Given the description of an element on the screen output the (x, y) to click on. 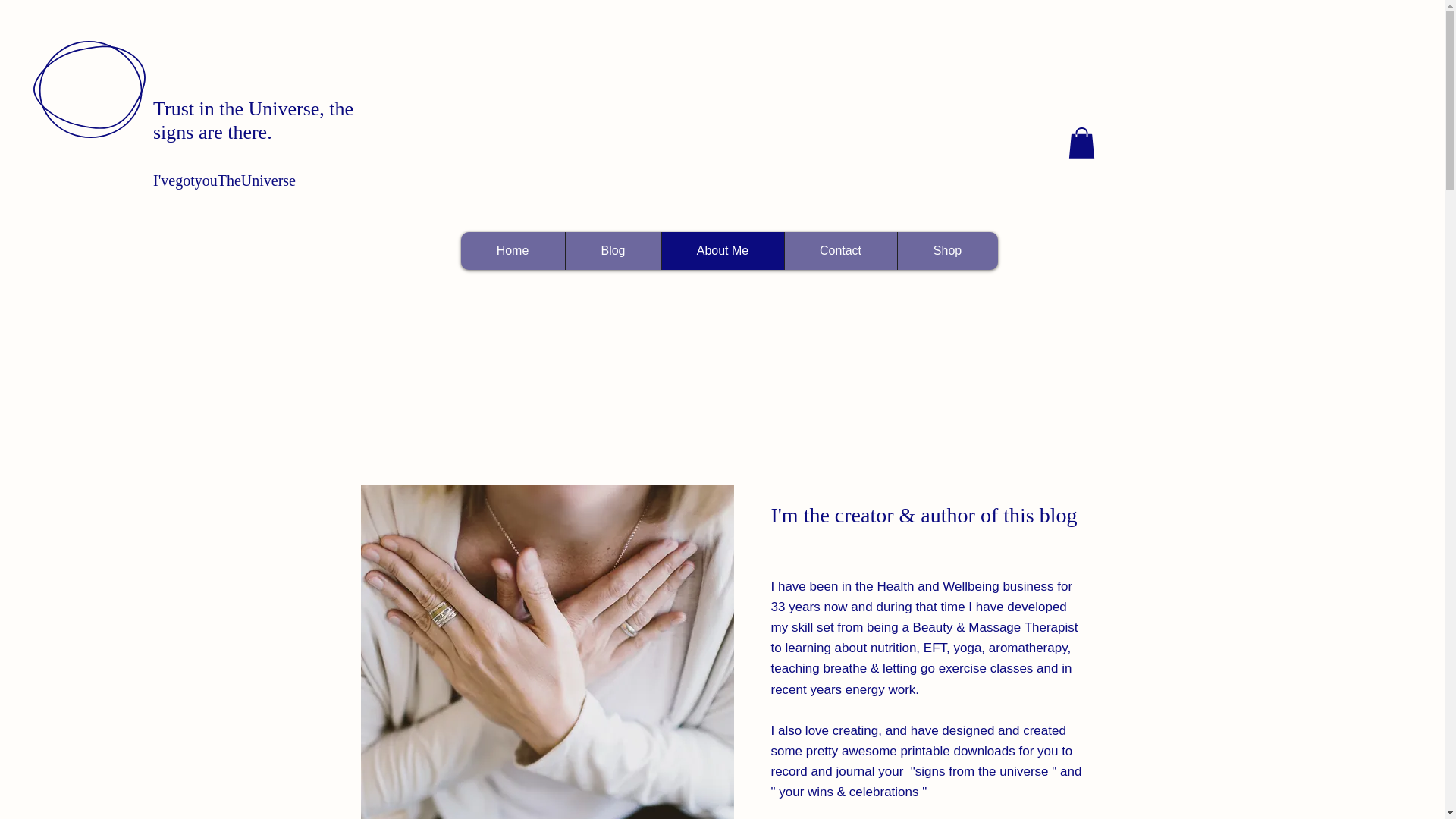
Contact (840, 250)
Home (512, 250)
Blog (612, 250)
About Me (722, 250)
Trust in the Universe, the signs are there. (252, 120)
Shop (946, 250)
